Given the description of an element on the screen output the (x, y) to click on. 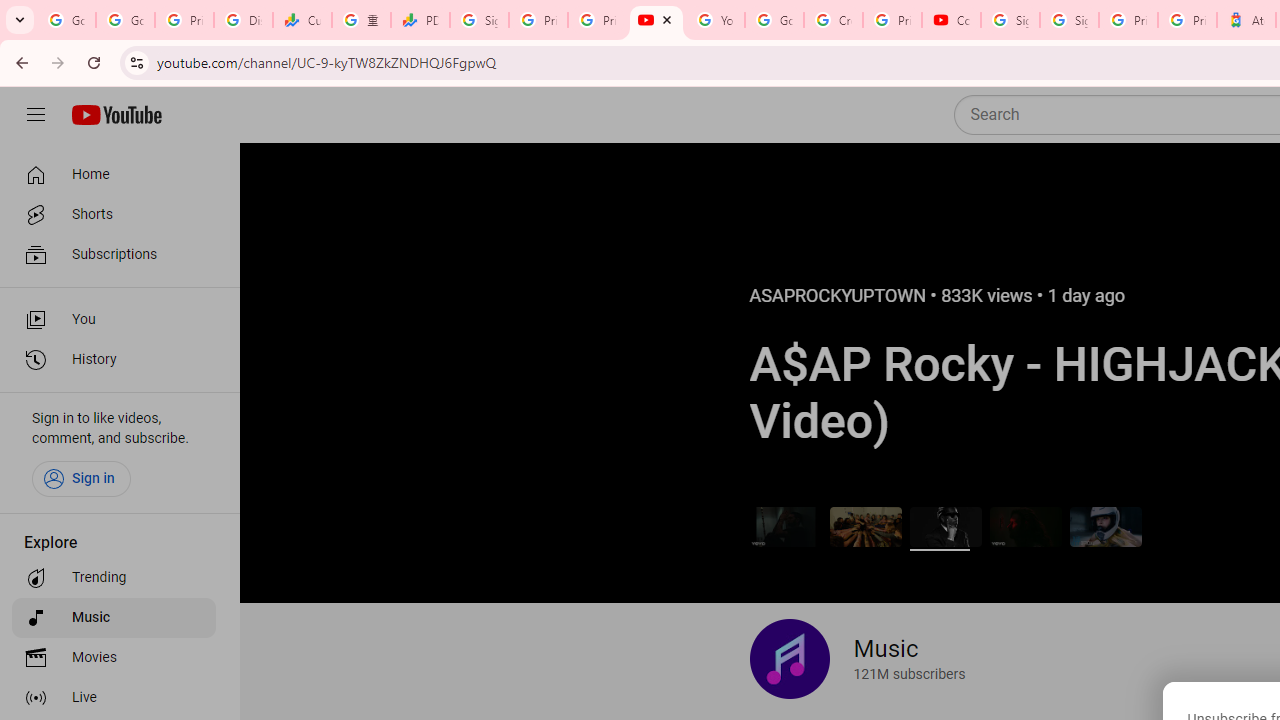
The Music Channel - YouTube (656, 20)
Hozier - Nobody's Soldier (Official Video) (1025, 526)
Google Account Help (774, 20)
Create your Google Account (832, 20)
